Given the description of an element on the screen output the (x, y) to click on. 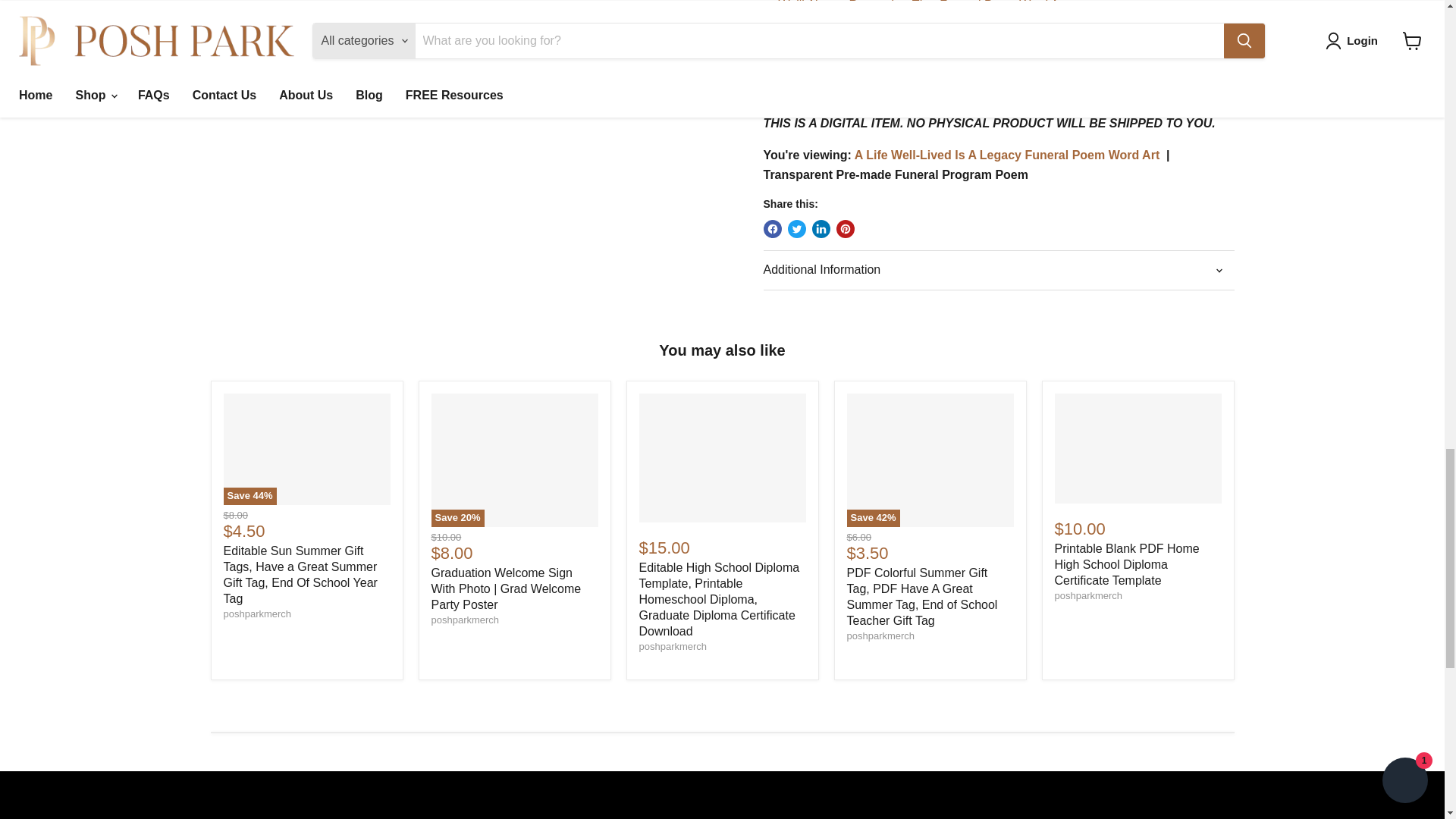
poshparkmerch (256, 613)
poshparkmerch (672, 645)
poshparkmerch (1088, 595)
poshparkmerch (464, 619)
poshparkmerch (879, 635)
